Given the description of an element on the screen output the (x, y) to click on. 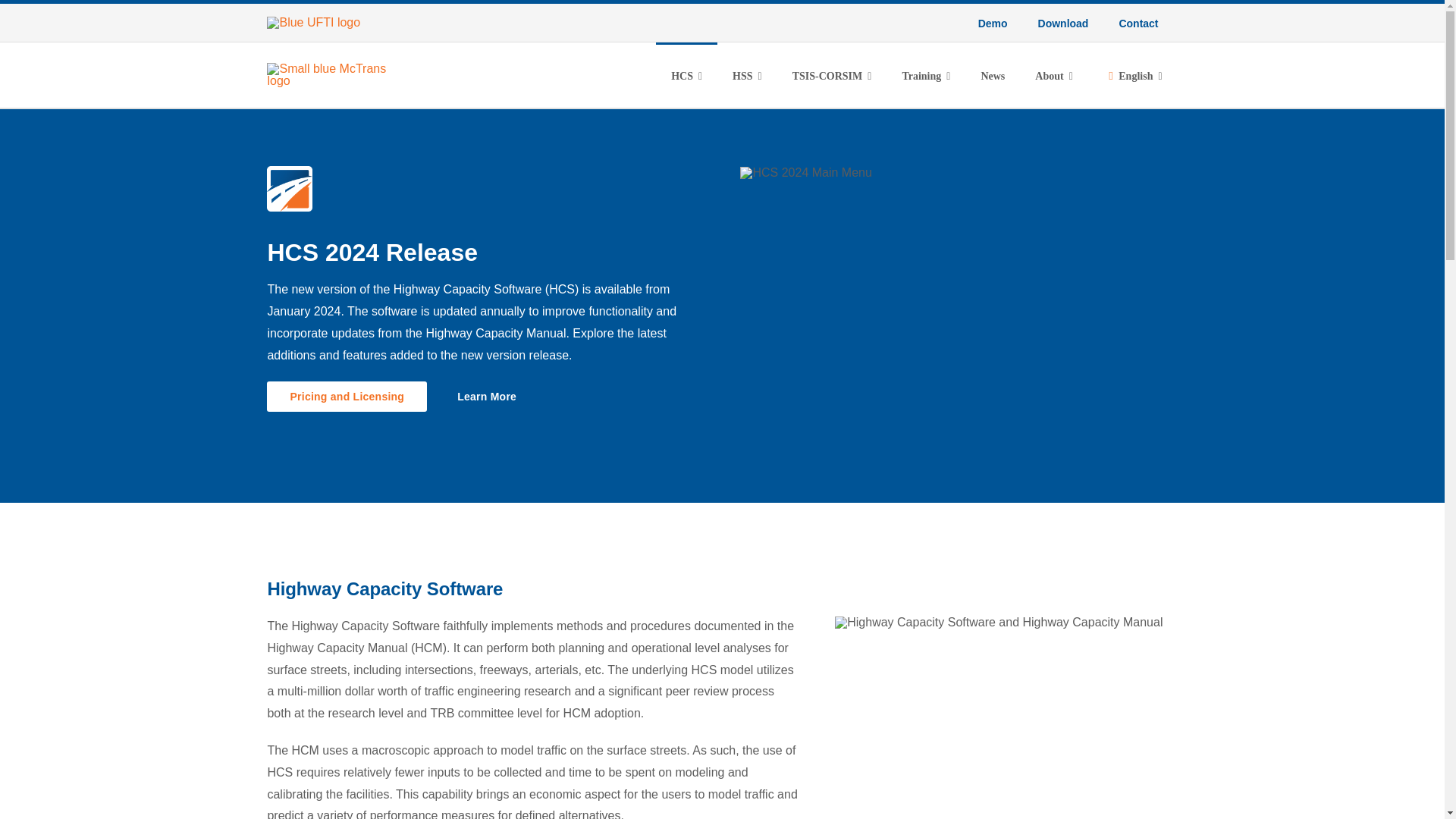
Training (925, 74)
HSS (747, 74)
Demo (992, 23)
TSIS-CORSIM (831, 74)
HCS (686, 74)
Download (1063, 23)
Contact (1137, 23)
